Given the description of an element on the screen output the (x, y) to click on. 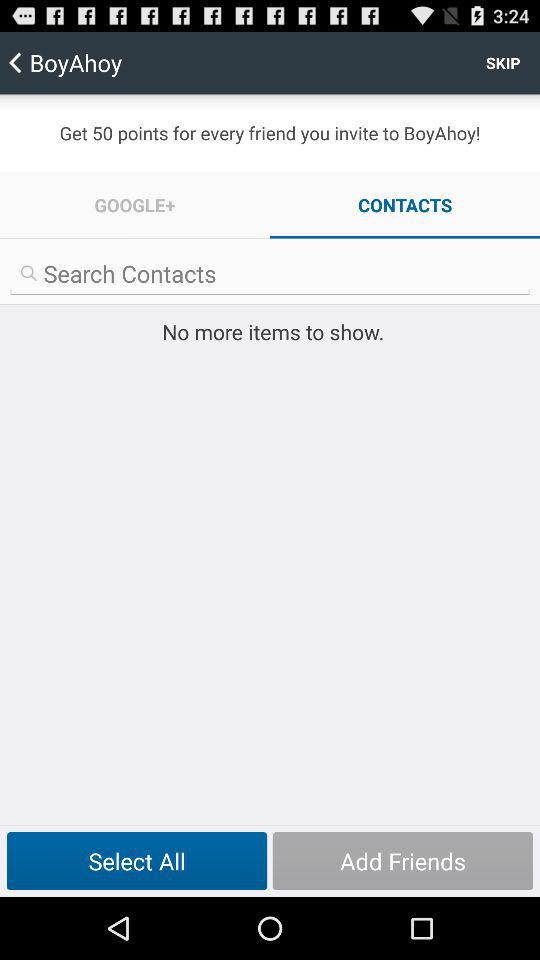
turn off item to the left of the add friends item (136, 861)
